Given the description of an element on the screen output the (x, y) to click on. 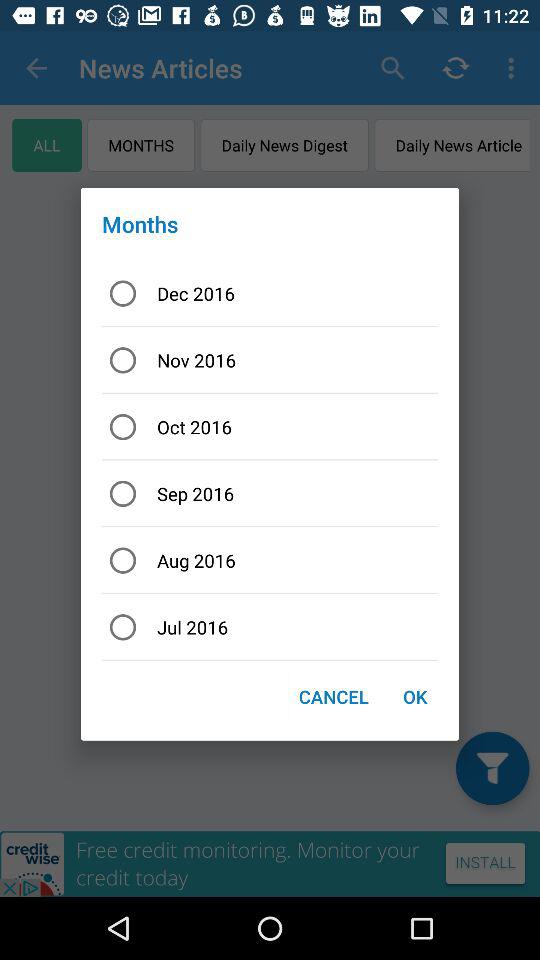
choose icon above nov 2016 icon (269, 293)
